Given the description of an element on the screen output the (x, y) to click on. 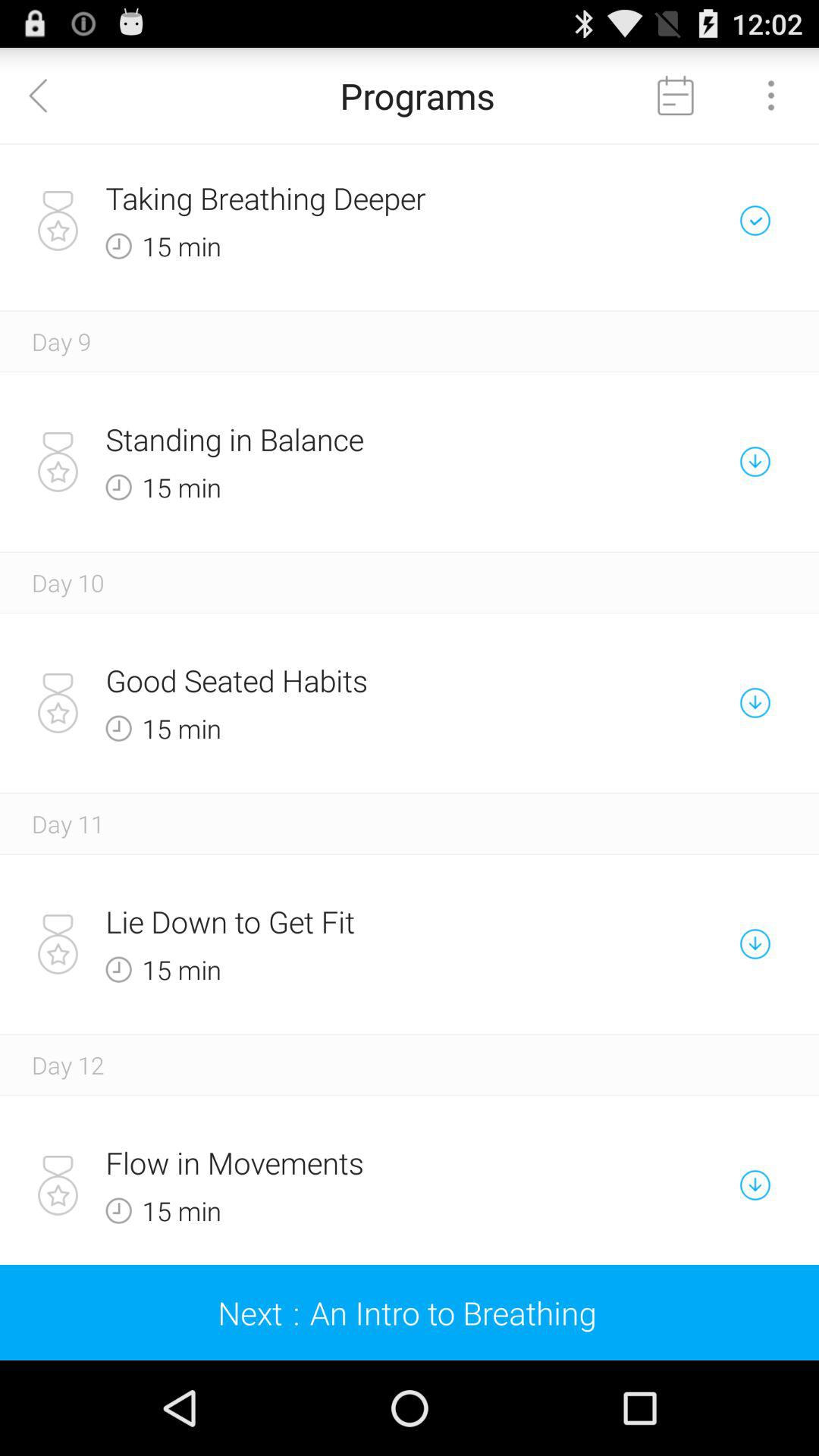
view calendar (675, 95)
